Given the description of an element on the screen output the (x, y) to click on. 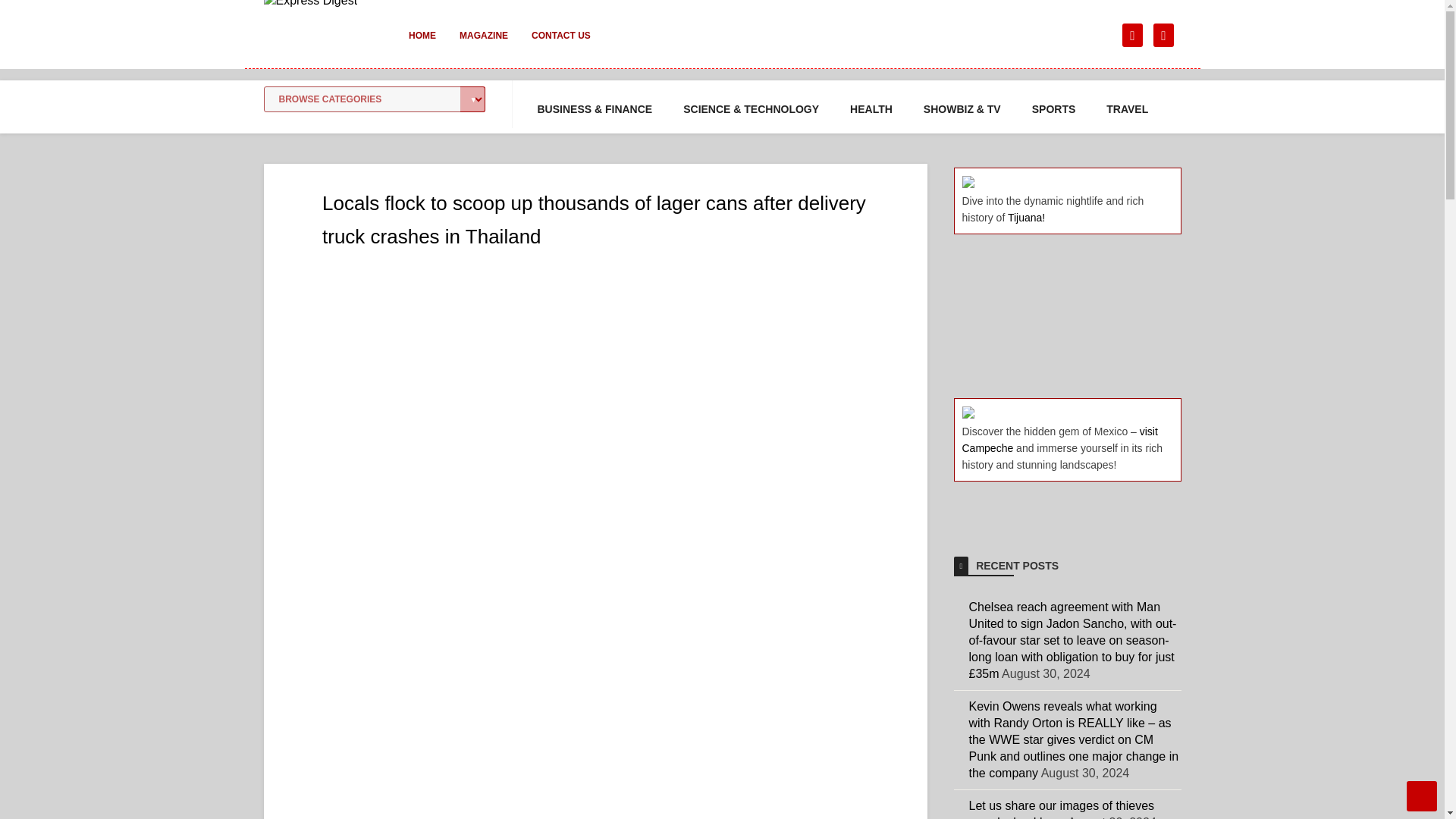
TRAVEL (1127, 109)
MAGAZINE (482, 45)
CONTACT US (560, 45)
Let us share our images of thieves says Iceland boss (1061, 809)
HEALTH (871, 109)
visit Campeche (1058, 439)
Tijuana! (1026, 217)
SPORTS (1053, 109)
